Given the description of an element on the screen output the (x, y) to click on. 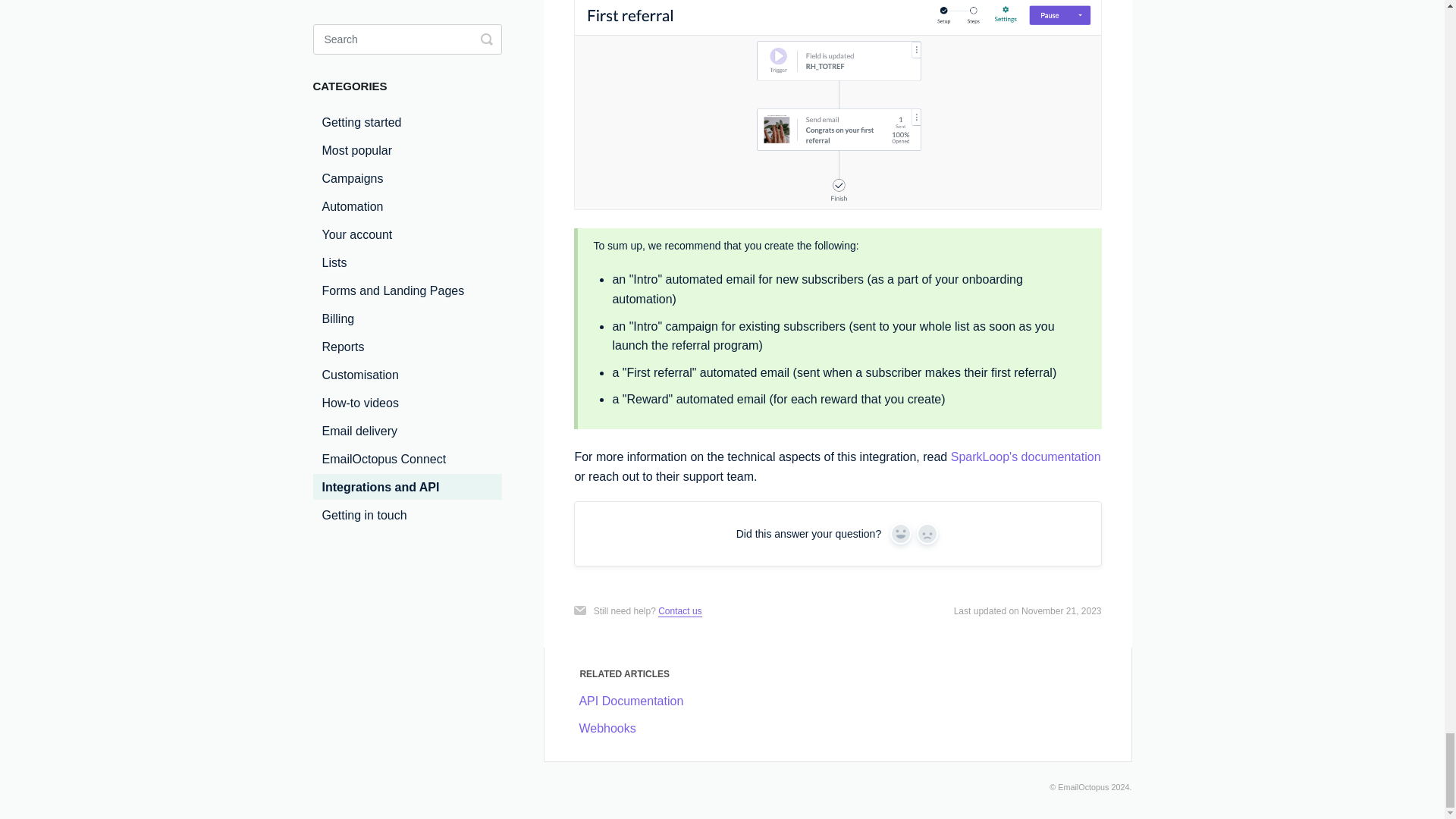
API Documentation (630, 700)
EmailOctopus (1083, 786)
Webhooks (606, 727)
Yes (900, 533)
SparkLoop's documentation (1025, 456)
Contact us (679, 611)
No (927, 533)
